Given the description of an element on the screen output the (x, y) to click on. 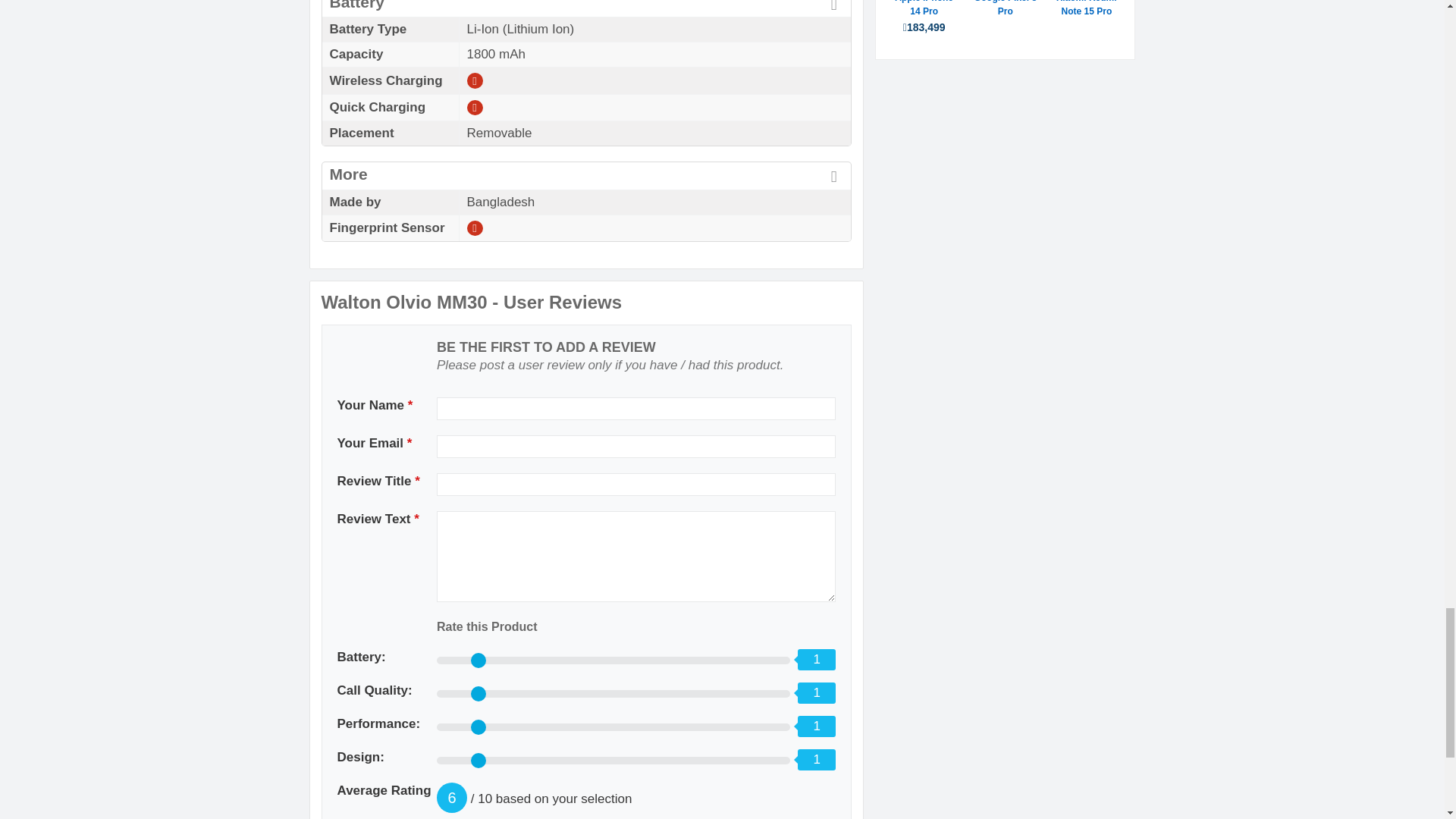
1 (613, 727)
1 (613, 760)
1 (613, 693)
1 (613, 660)
